Given the description of an element on the screen output the (x, y) to click on. 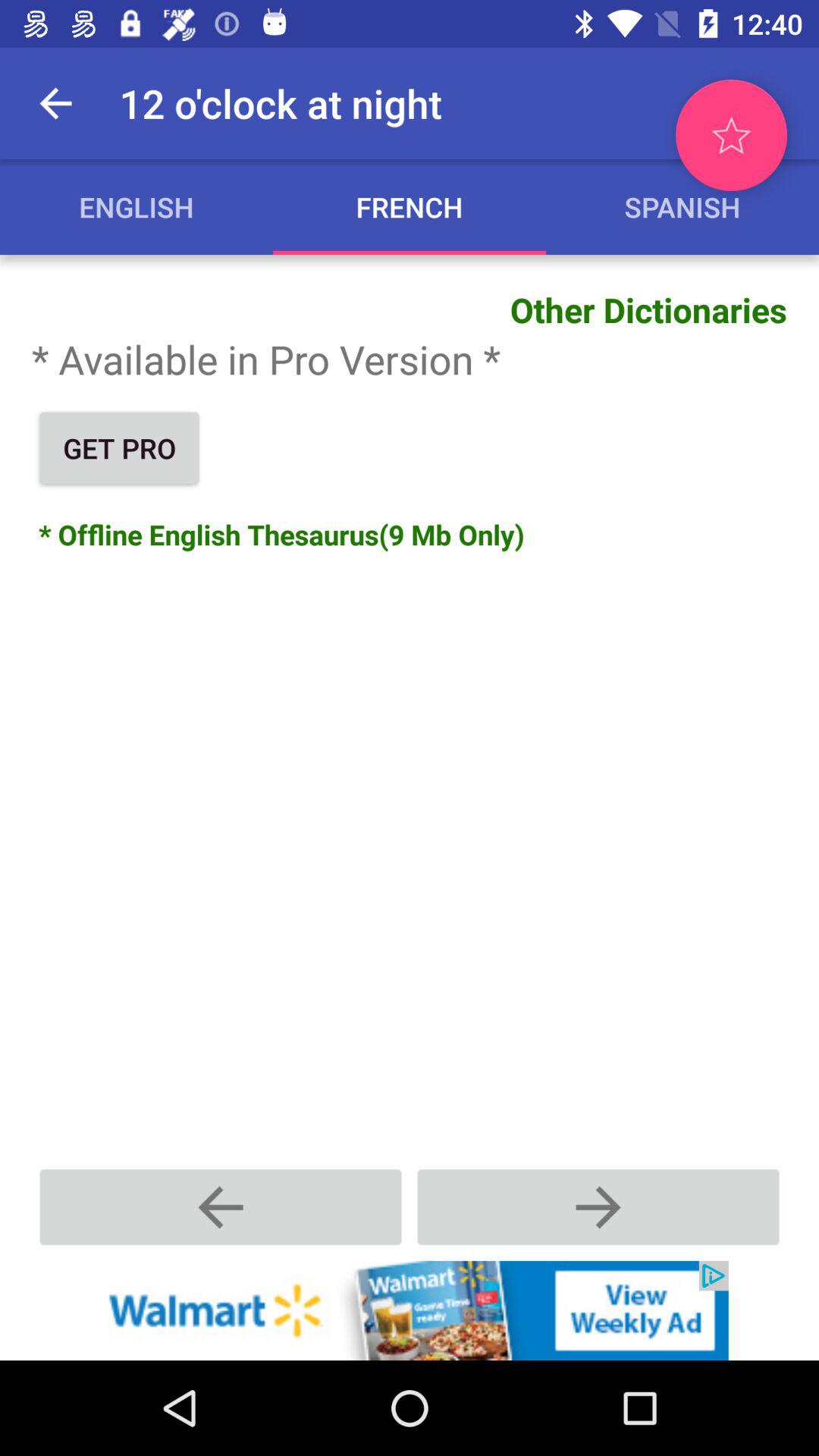
go to previous (220, 1206)
